Given the description of an element on the screen output the (x, y) to click on. 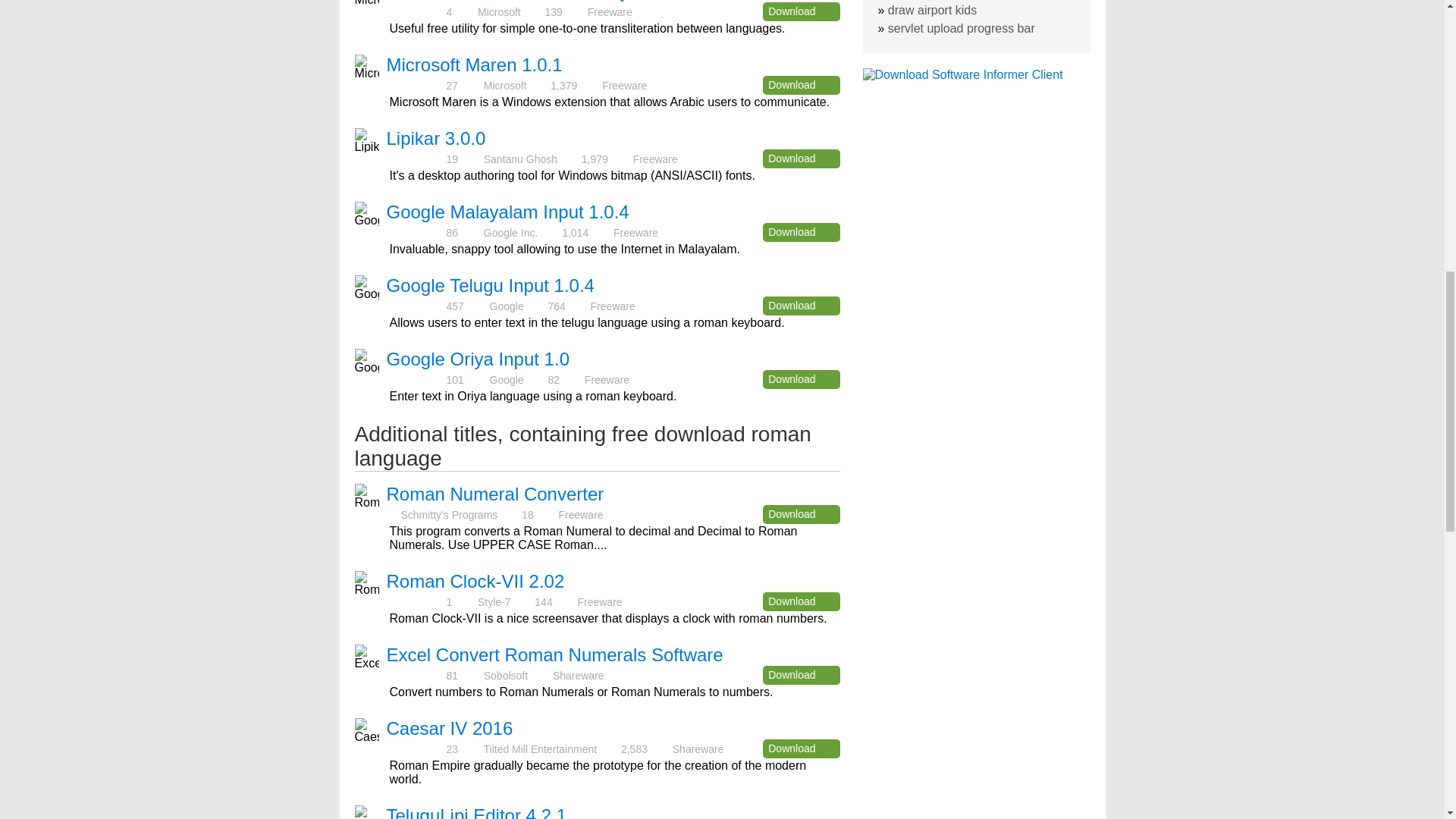
Google Telugu Input 1.0.4 (490, 285)
2.9 (415, 158)
Google Malayalam Input 1.0.4 (507, 211)
Excel Convert Roman Numerals Software (555, 654)
Download (801, 379)
Download (801, 601)
Microsoft Maren 1.0.1 (474, 64)
Download (801, 231)
Google Oriya Input 1.0 (478, 358)
3.7 (415, 232)
Google Telugu Input 1.0.4 (490, 285)
Download (801, 674)
Google Oriya Input 1.0 (478, 358)
Download (801, 158)
